Given the description of an element on the screen output the (x, y) to click on. 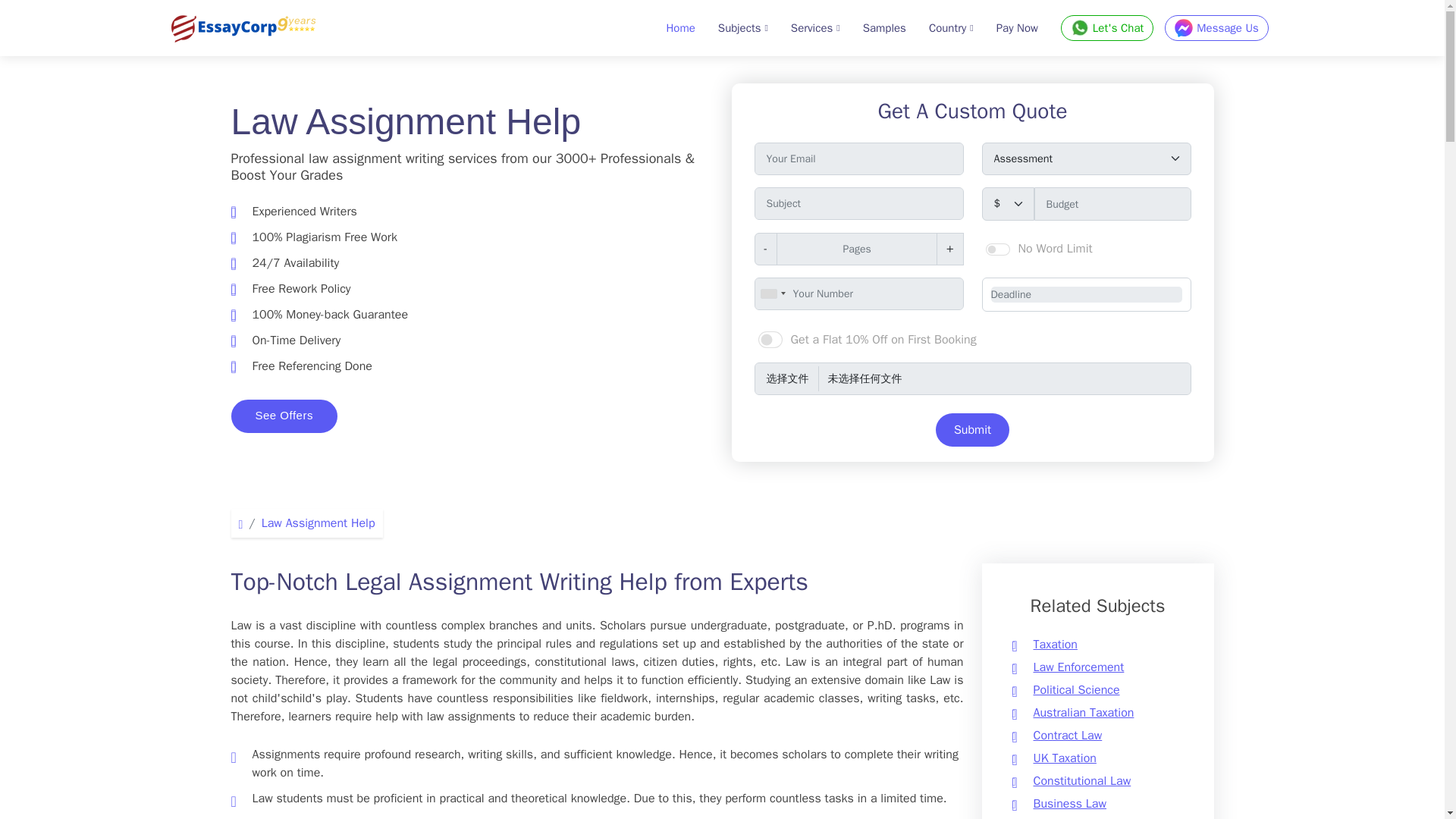
Let's Chat (1107, 27)
Home (668, 28)
Message Us (1216, 27)
on (997, 249)
Home (668, 28)
on (770, 339)
Subjects (731, 28)
See Offers (283, 416)
